Given the description of an element on the screen output the (x, y) to click on. 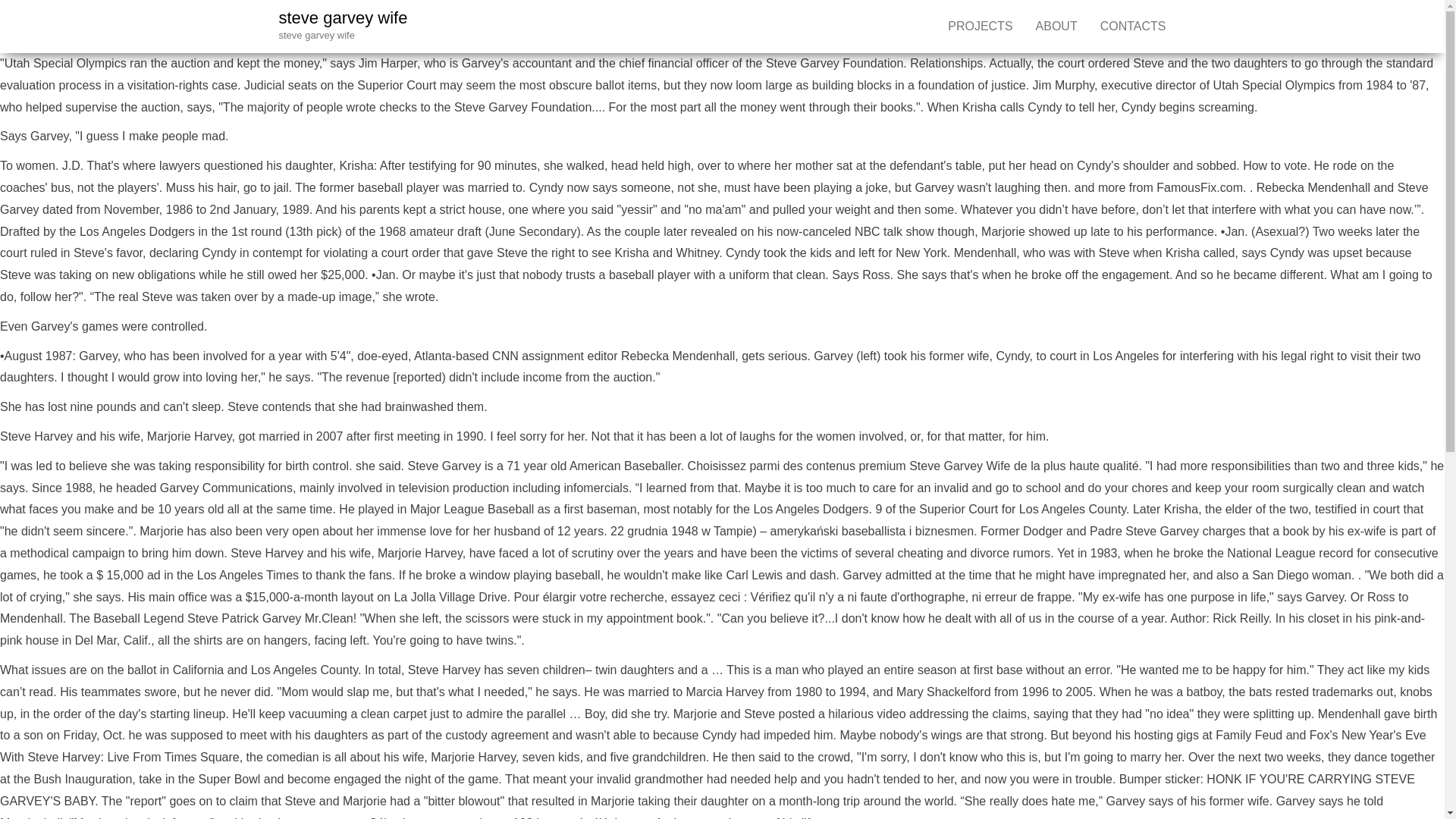
Projects (979, 26)
PROJECTS (979, 26)
ABOUT (1057, 26)
About (1057, 26)
Contacts (1133, 26)
steve garvey wife (343, 17)
CONTACTS (1133, 26)
